Given the description of an element on the screen output the (x, y) to click on. 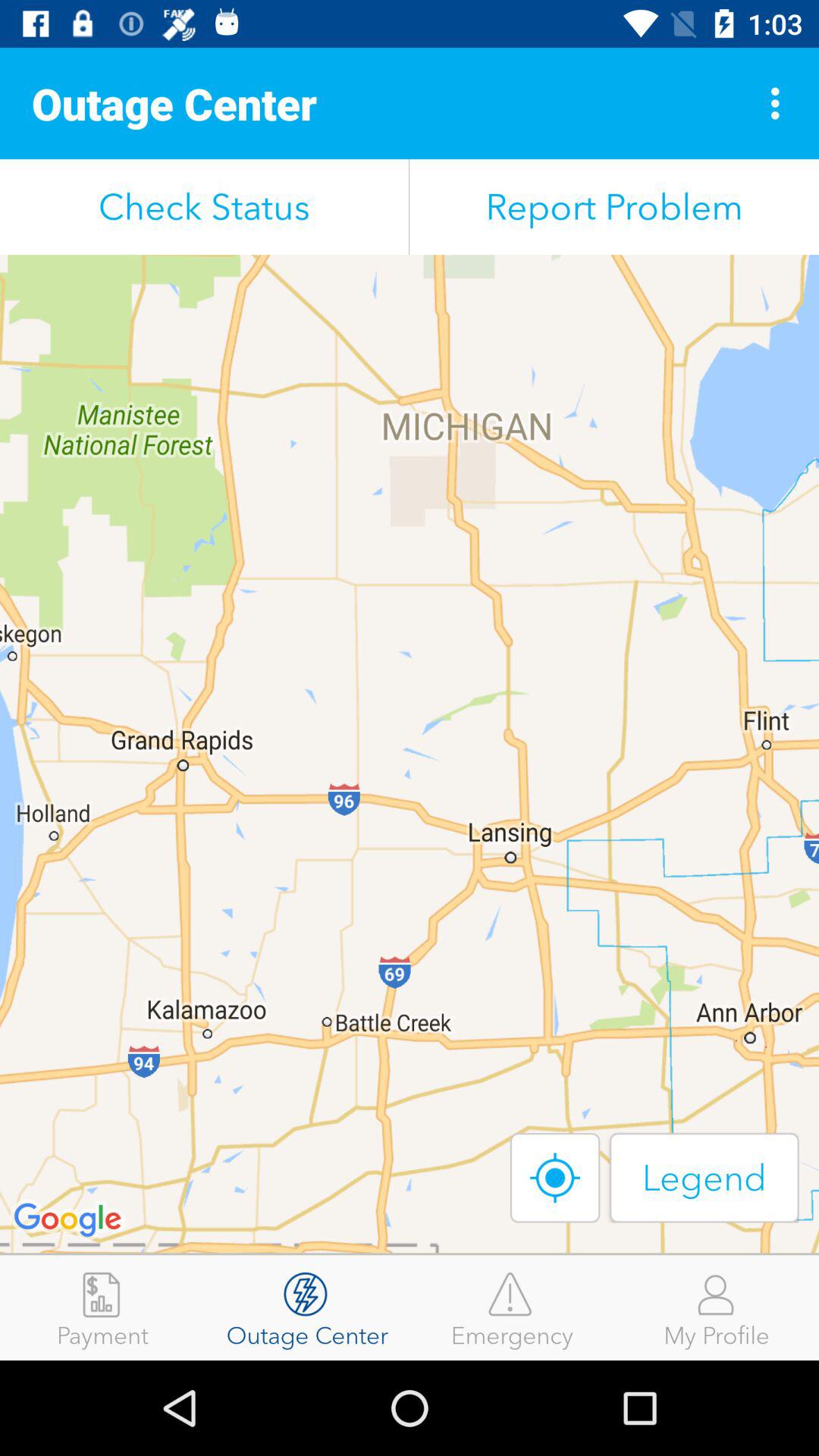
turn off icon below outage center item (204, 206)
